Given the description of an element on the screen output the (x, y) to click on. 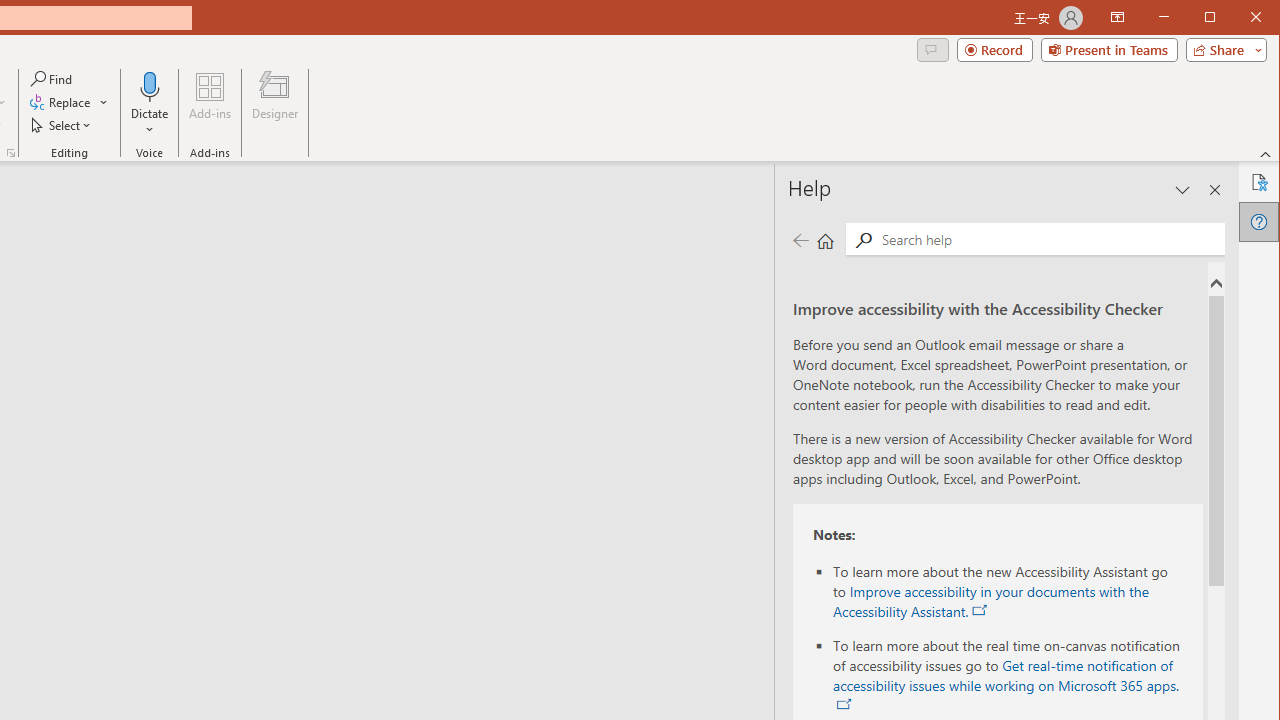
openinnewwindow (844, 704)
Previous page (800, 240)
